Given the description of an element on the screen output the (x, y) to click on. 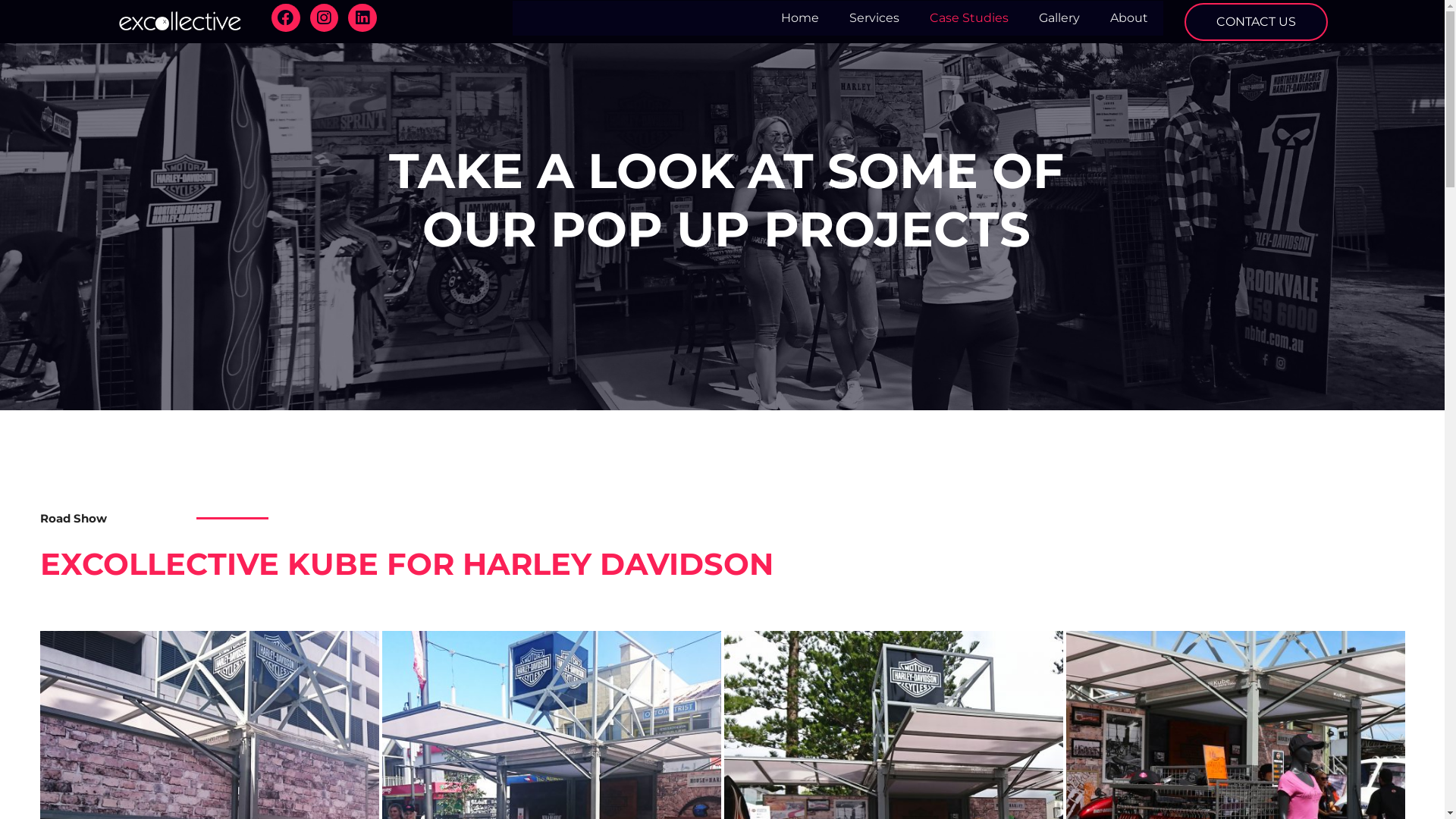
Gallery Element type: text (1059, 17)
About Element type: text (1129, 17)
CONTACT US Element type: text (1255, 21)
Home Element type: text (799, 17)
Case Studies Element type: text (968, 17)
Services Element type: text (874, 17)
